Given the description of an element on the screen output the (x, y) to click on. 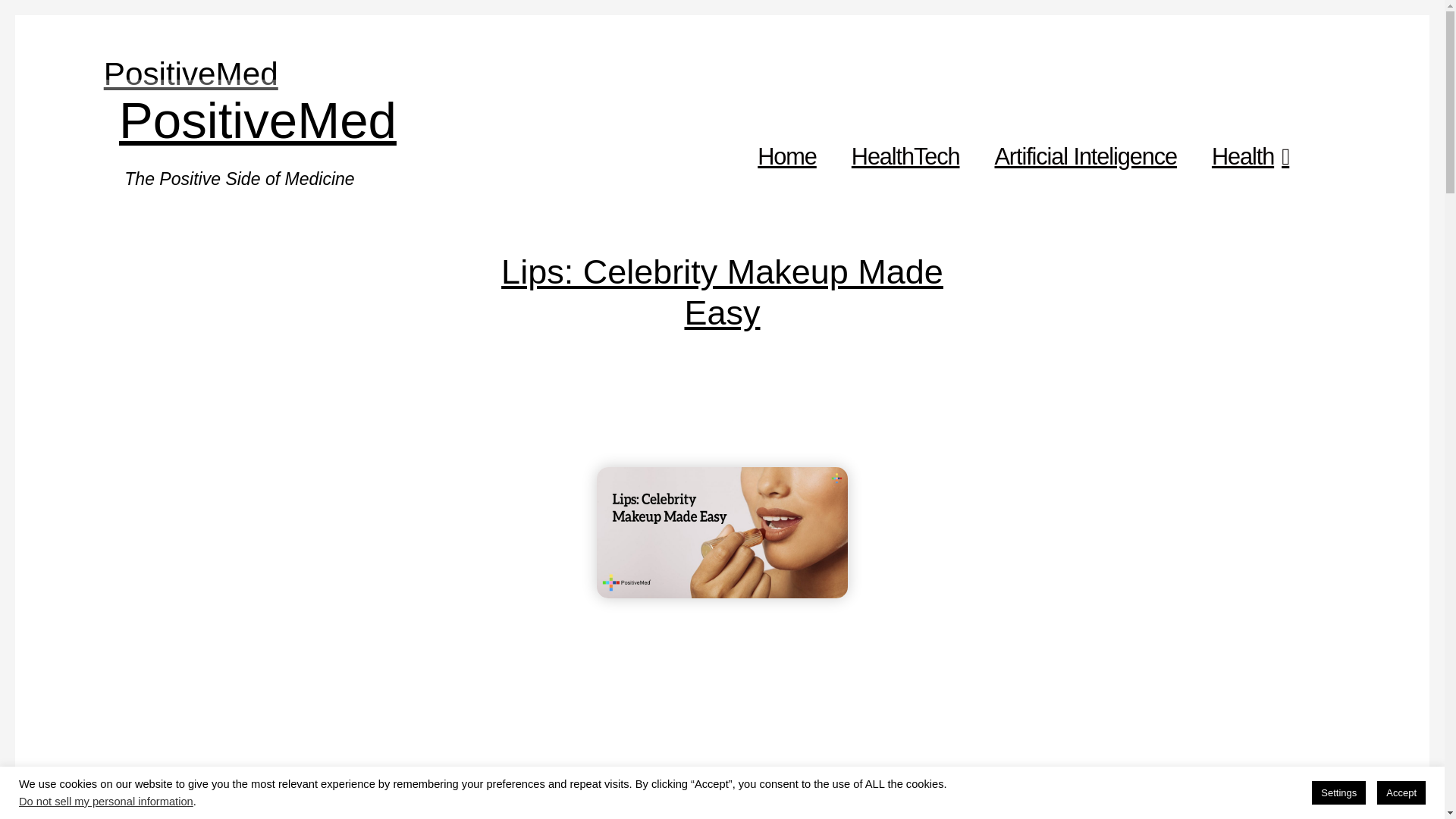
HealthTech (905, 157)
Health (1250, 157)
PositiveMed (190, 73)
Artificial Inteligence (1085, 157)
Home (786, 157)
